Given the description of an element on the screen output the (x, y) to click on. 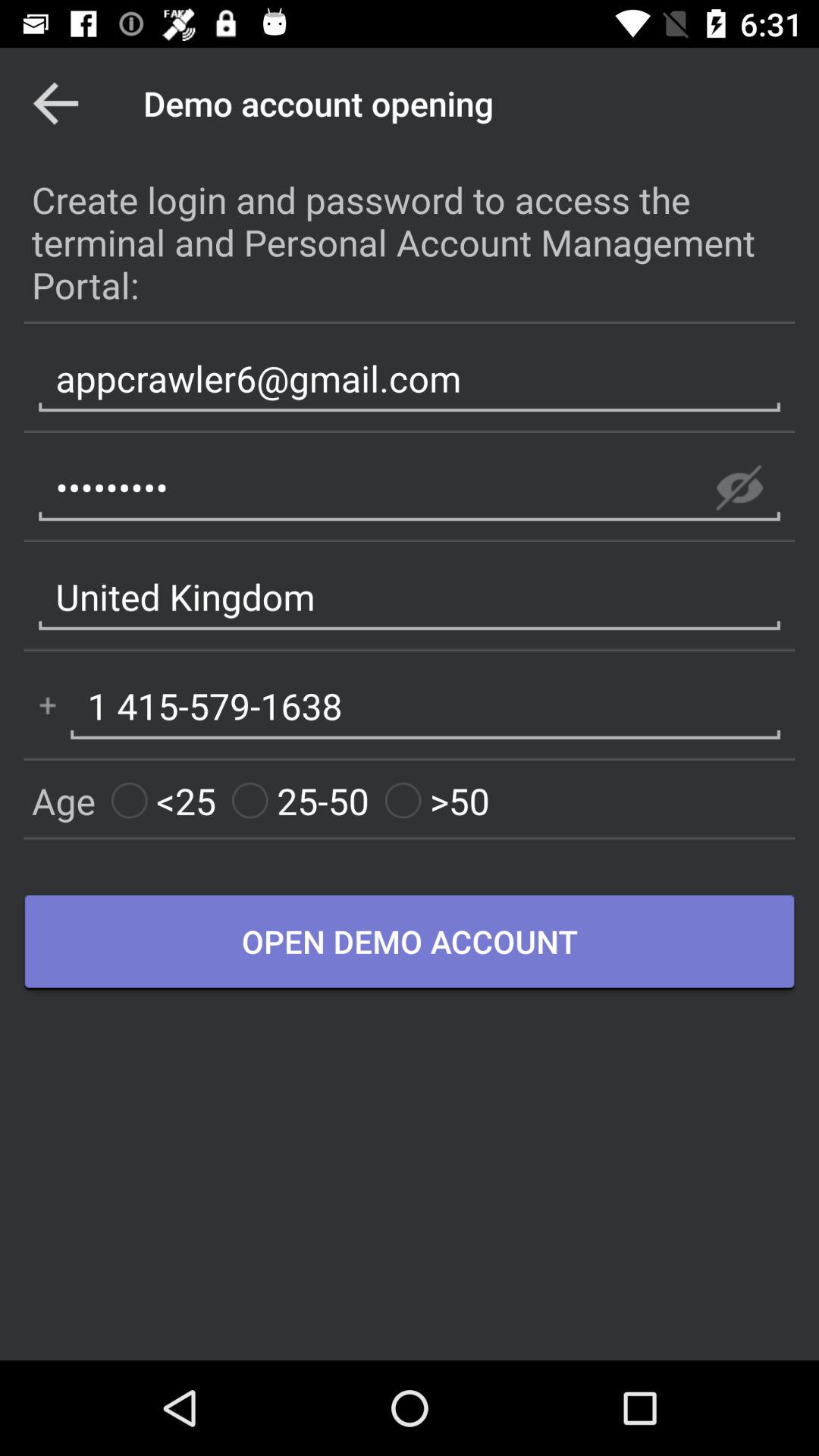
turn off icon below 1 415 579 (300, 800)
